Given the description of an element on the screen output the (x, y) to click on. 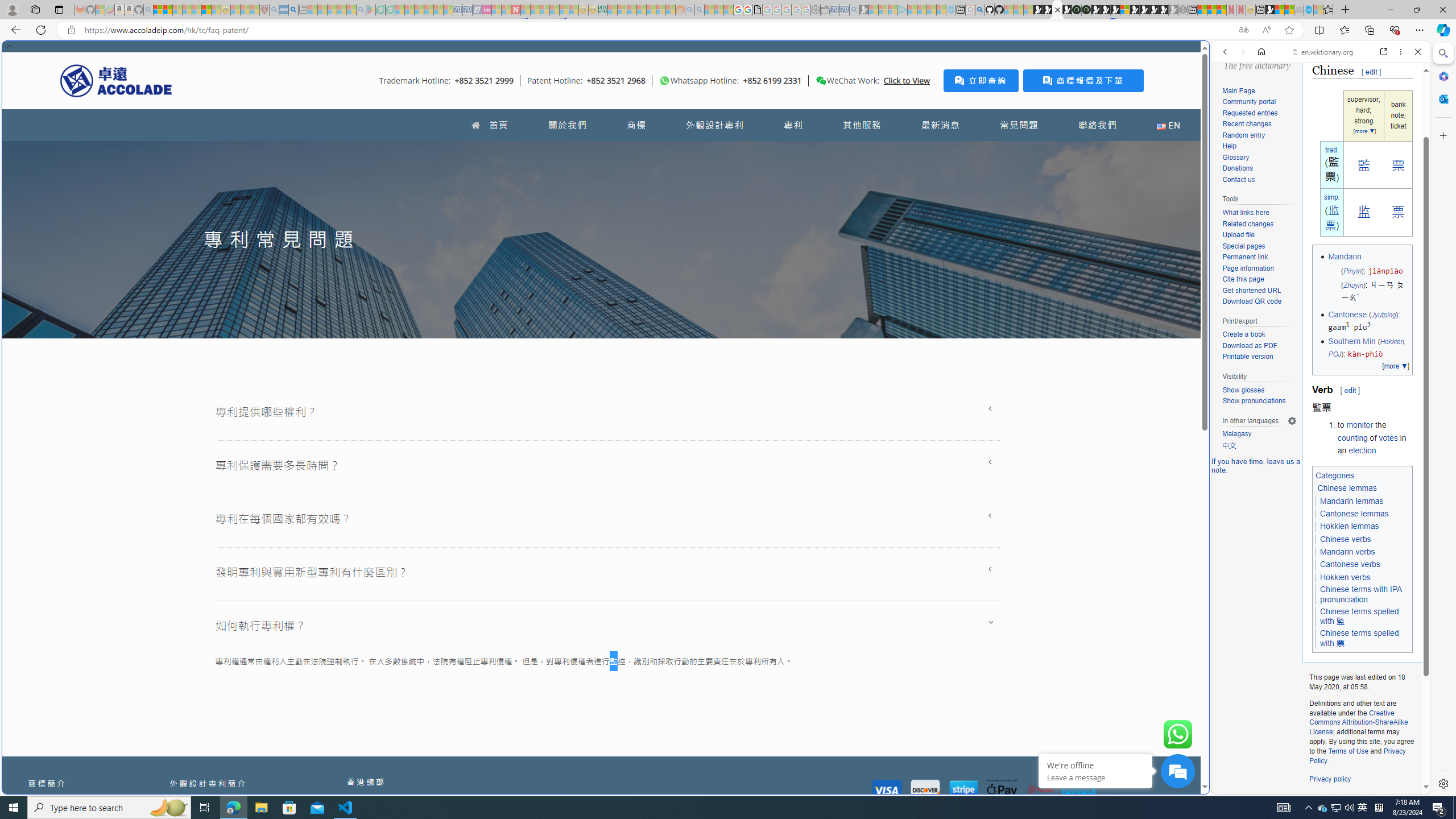
google_privacy_policy_zh-CN.pdf (757, 9)
Southern Min (1351, 341)
Privacy policy (1329, 779)
Printable version (1247, 356)
Recent changes (1246, 124)
